Given the description of an element on the screen output the (x, y) to click on. 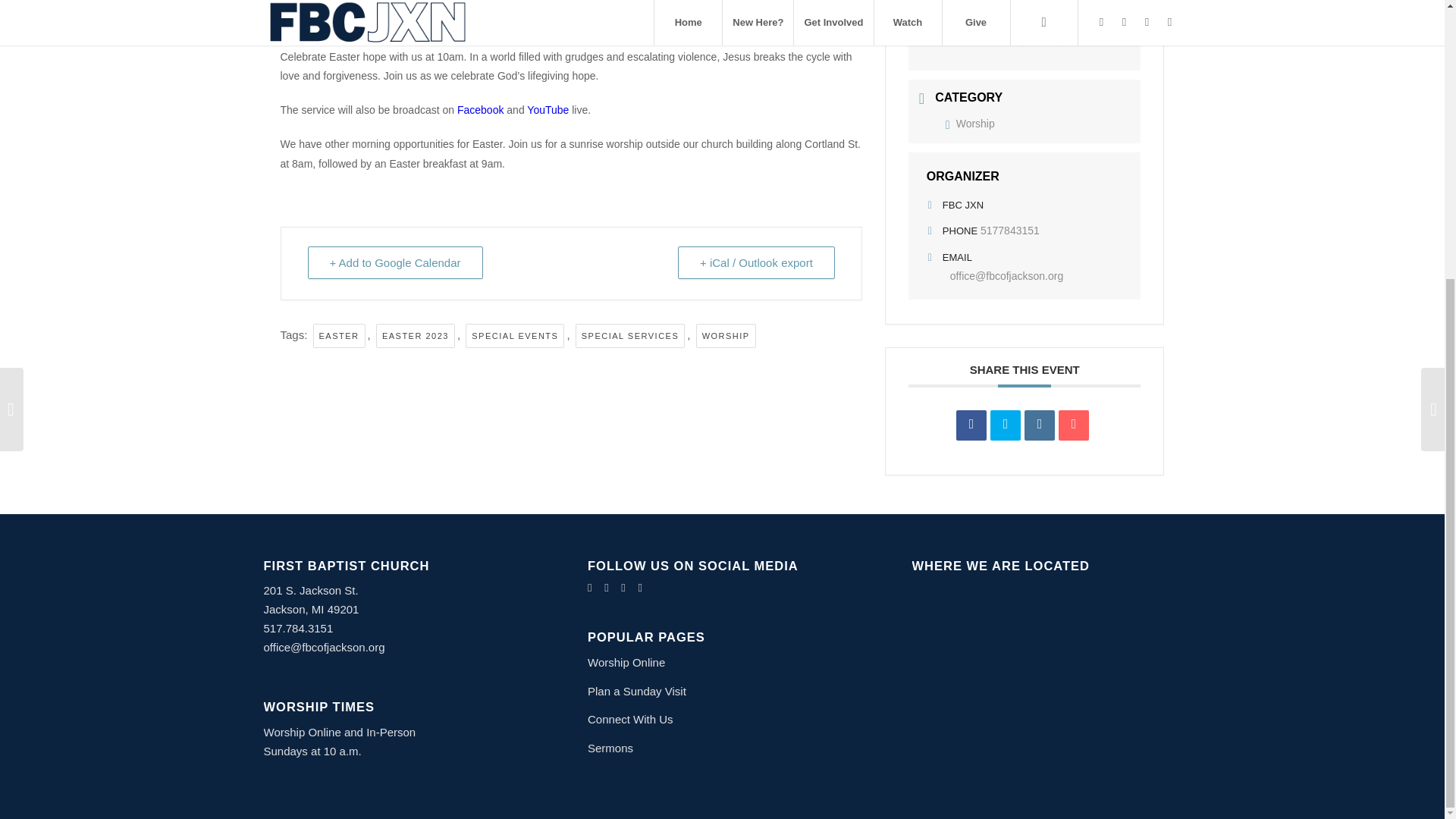
YouTube (548, 110)
EASTER 2023 (414, 335)
EASTER (339, 335)
Email (1073, 425)
Worship (969, 123)
SPECIAL EVENTS (514, 335)
Share on Facebook (971, 425)
WORSHIP (725, 335)
Facebook (480, 110)
SPECIAL SERVICES (630, 335)
